Given the description of an element on the screen output the (x, y) to click on. 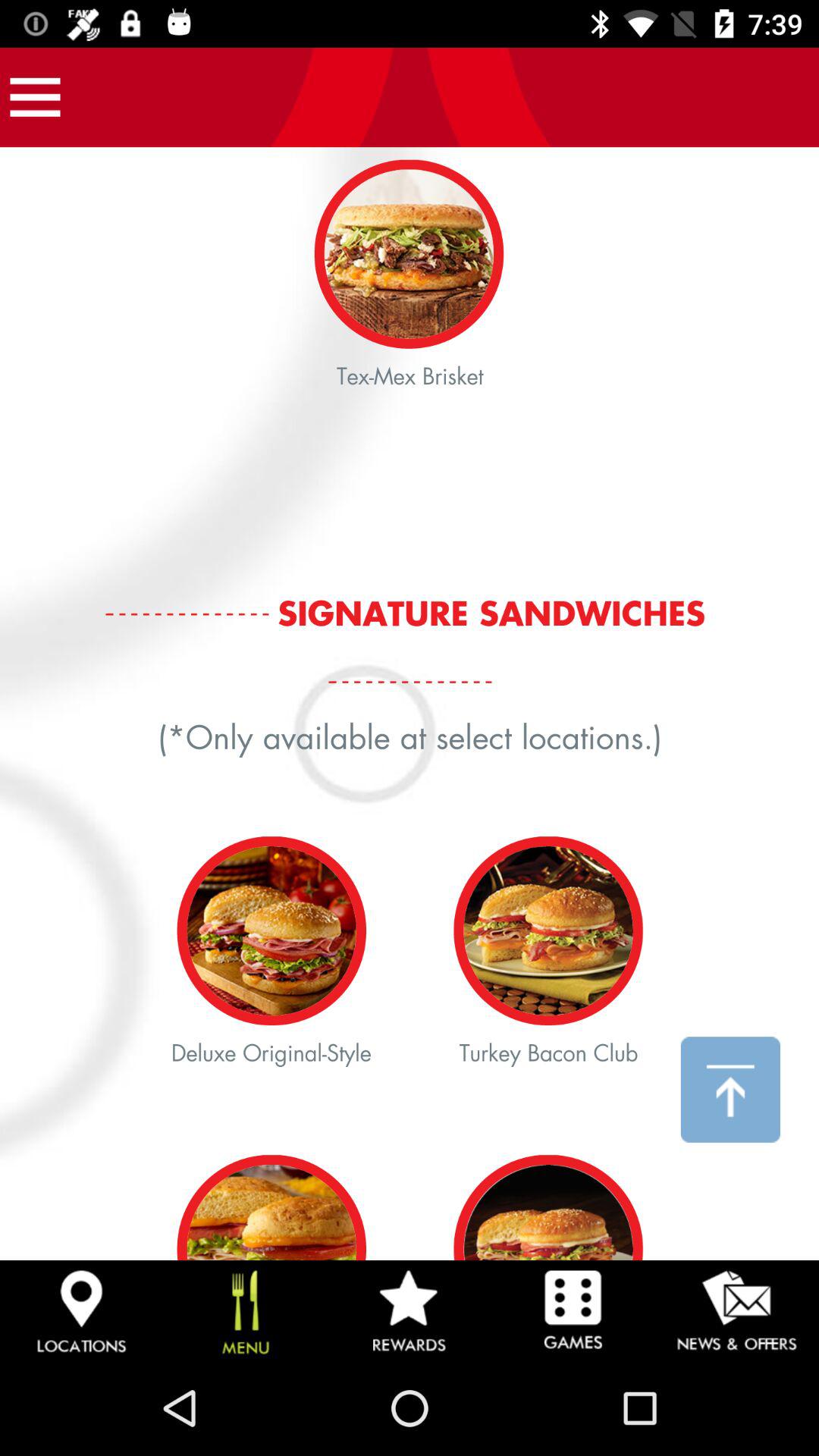
menu options (35, 97)
